Given the description of an element on the screen output the (x, y) to click on. 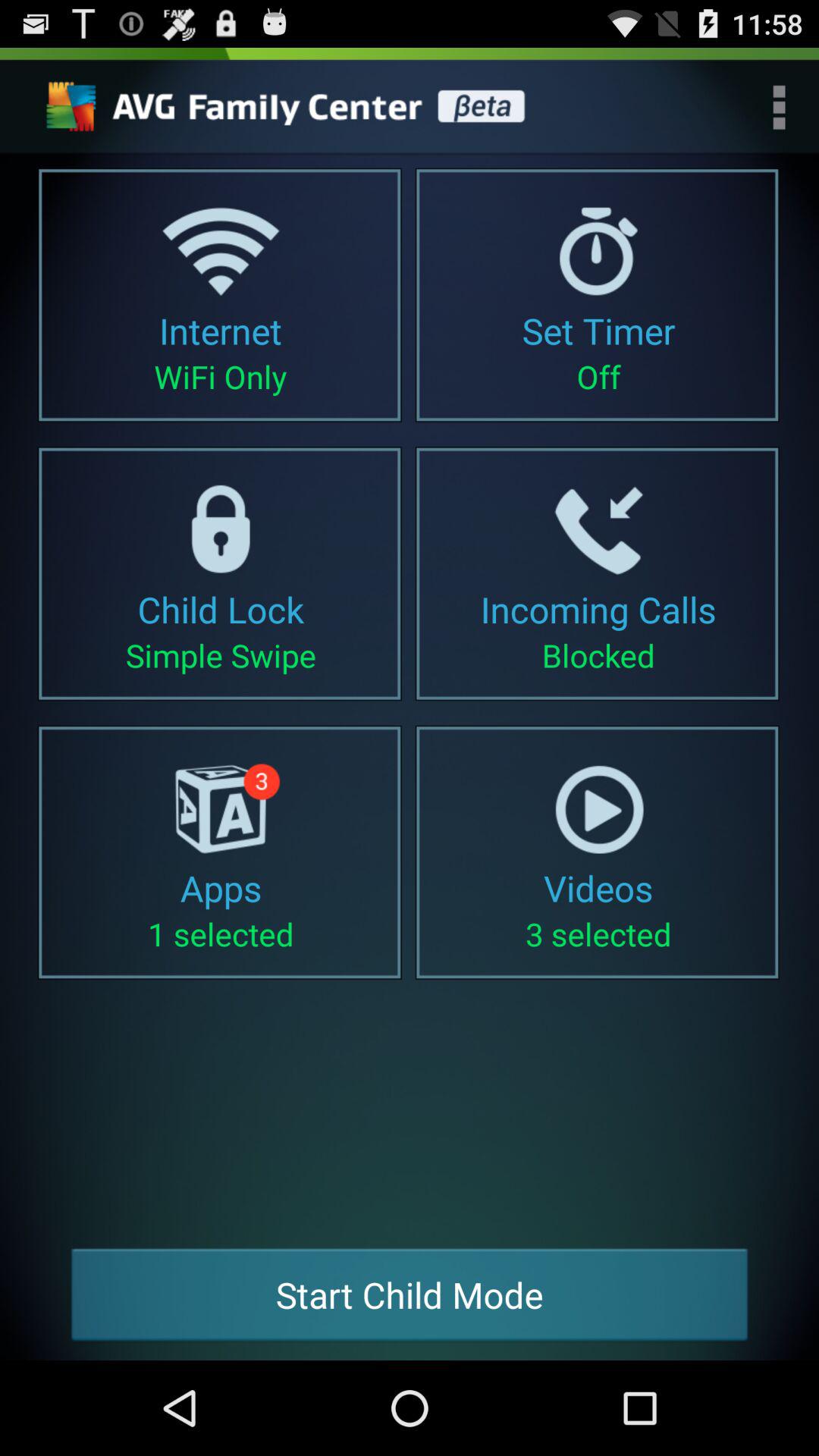
choose this anti virus (289, 107)
